Given the description of an element on the screen output the (x, y) to click on. 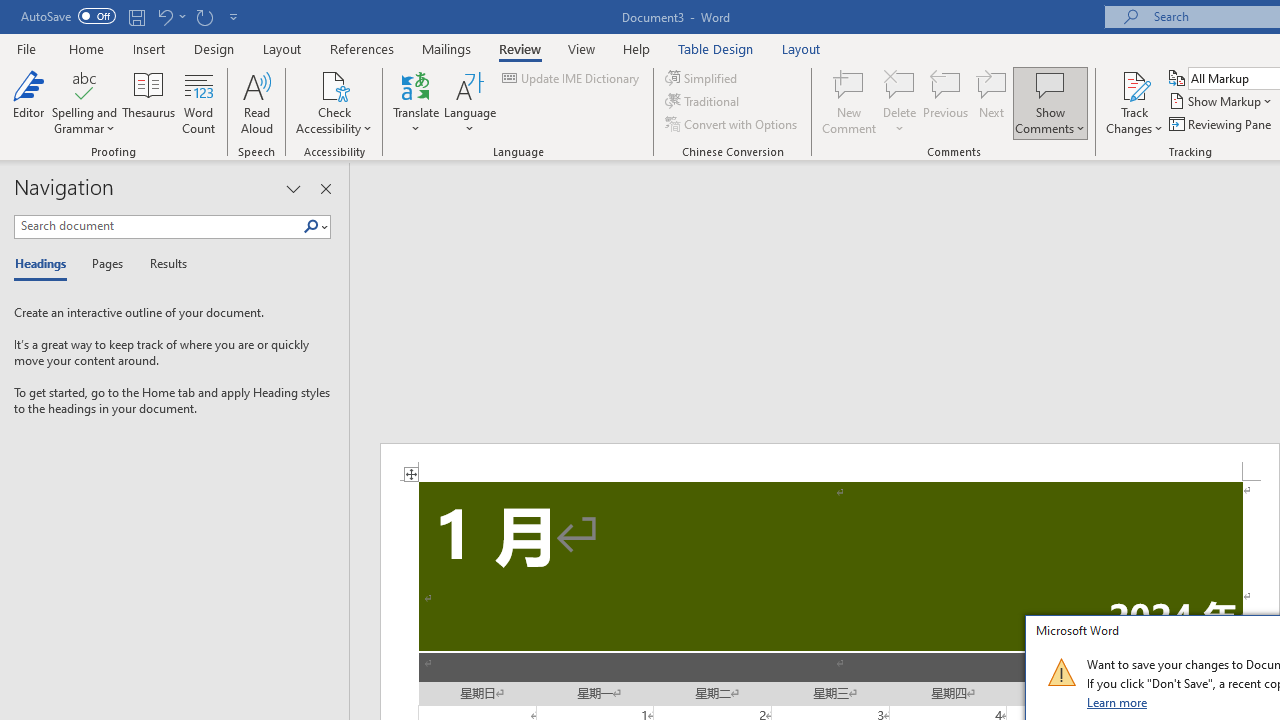
Thesaurus... (148, 102)
Track Changes (1134, 102)
Repeat Doc Close (204, 15)
Traditional (703, 101)
Delete (900, 84)
Word Count (198, 102)
